Given the description of an element on the screen output the (x, y) to click on. 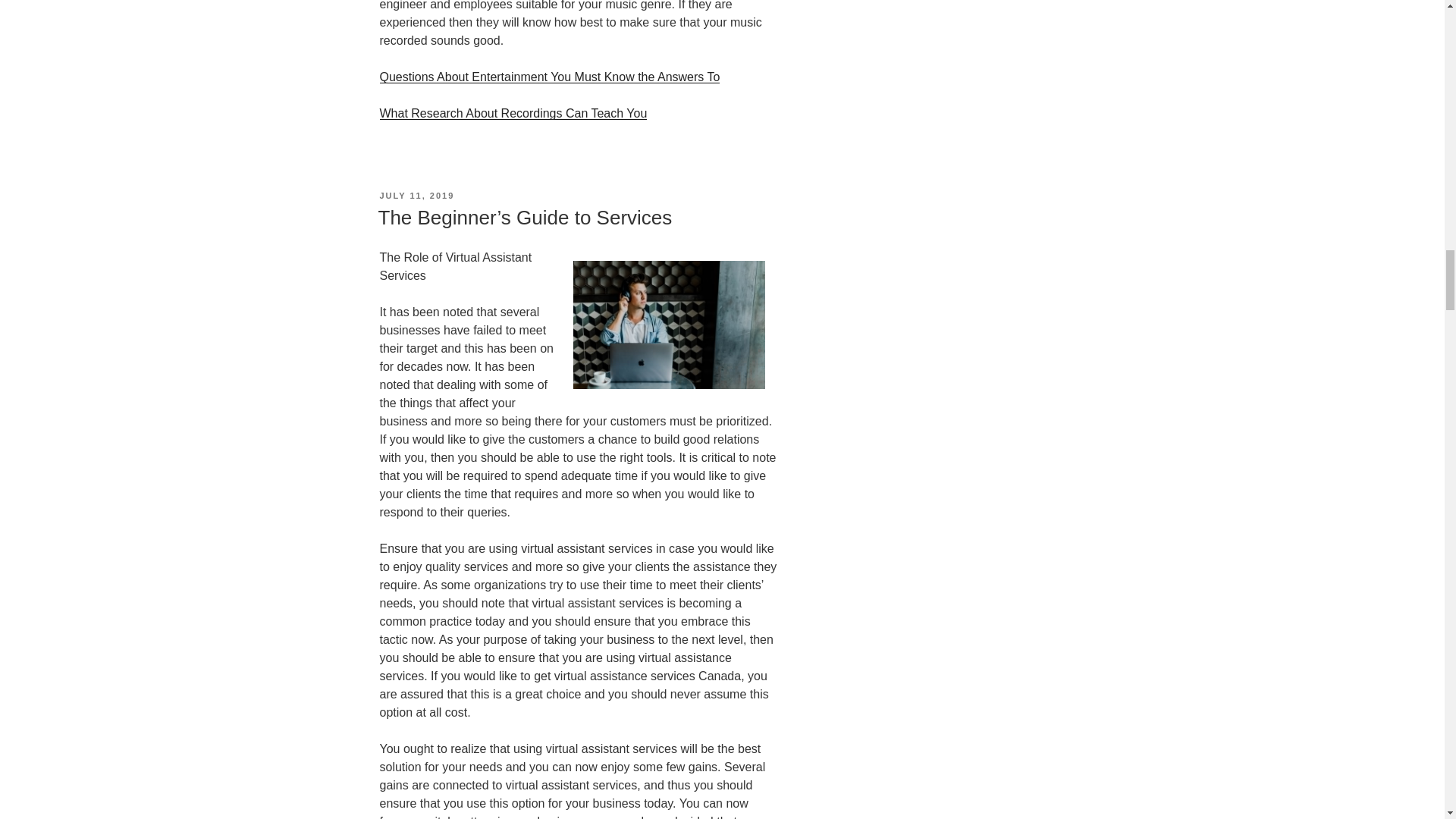
JULY 11, 2019 (416, 194)
Questions About Entertainment You Must Know the Answers To (548, 76)
What Research About Recordings Can Teach You (512, 113)
